Given the description of an element on the screen output the (x, y) to click on. 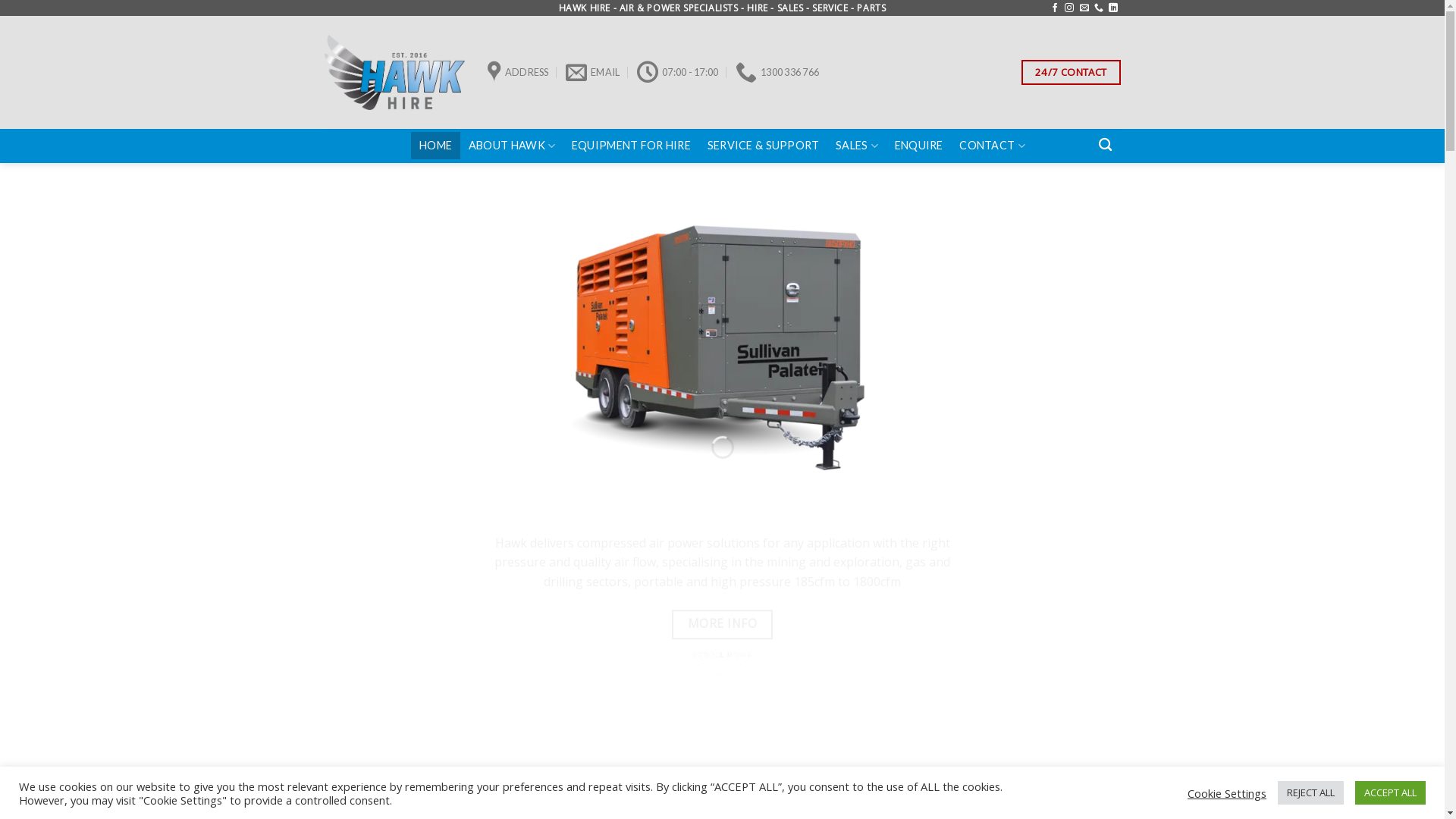
Send us an email Element type: hover (1083, 8)
Call us Element type: hover (1098, 8)
24/7 CONTACT Element type: text (1070, 71)
SALES Element type: text (856, 145)
REJECT ALL Element type: text (1310, 792)
Follow on LinkedIn Element type: hover (1112, 8)
1300 336 766 Element type: text (777, 72)
EQUIPMENT FOR HIRE Element type: text (631, 145)
Follow on Facebook Element type: hover (1054, 8)
ACCEPT ALL Element type: text (1390, 792)
CONTACT Element type: text (992, 145)
ADDRESS Element type: text (517, 72)
ENQUIRE Element type: text (918, 145)
07:00 - 17:00 Element type: text (677, 72)
EMAIL Element type: text (592, 72)
Follow on Instagram Element type: hover (1068, 8)
SERVICE & SUPPORT Element type: text (763, 145)
HOME Element type: text (435, 145)
MORE INFO Element type: text (721, 624)
Cookie Settings Element type: text (1226, 792)
ABOUT HAWK Element type: text (511, 145)
